Given the description of an element on the screen output the (x, y) to click on. 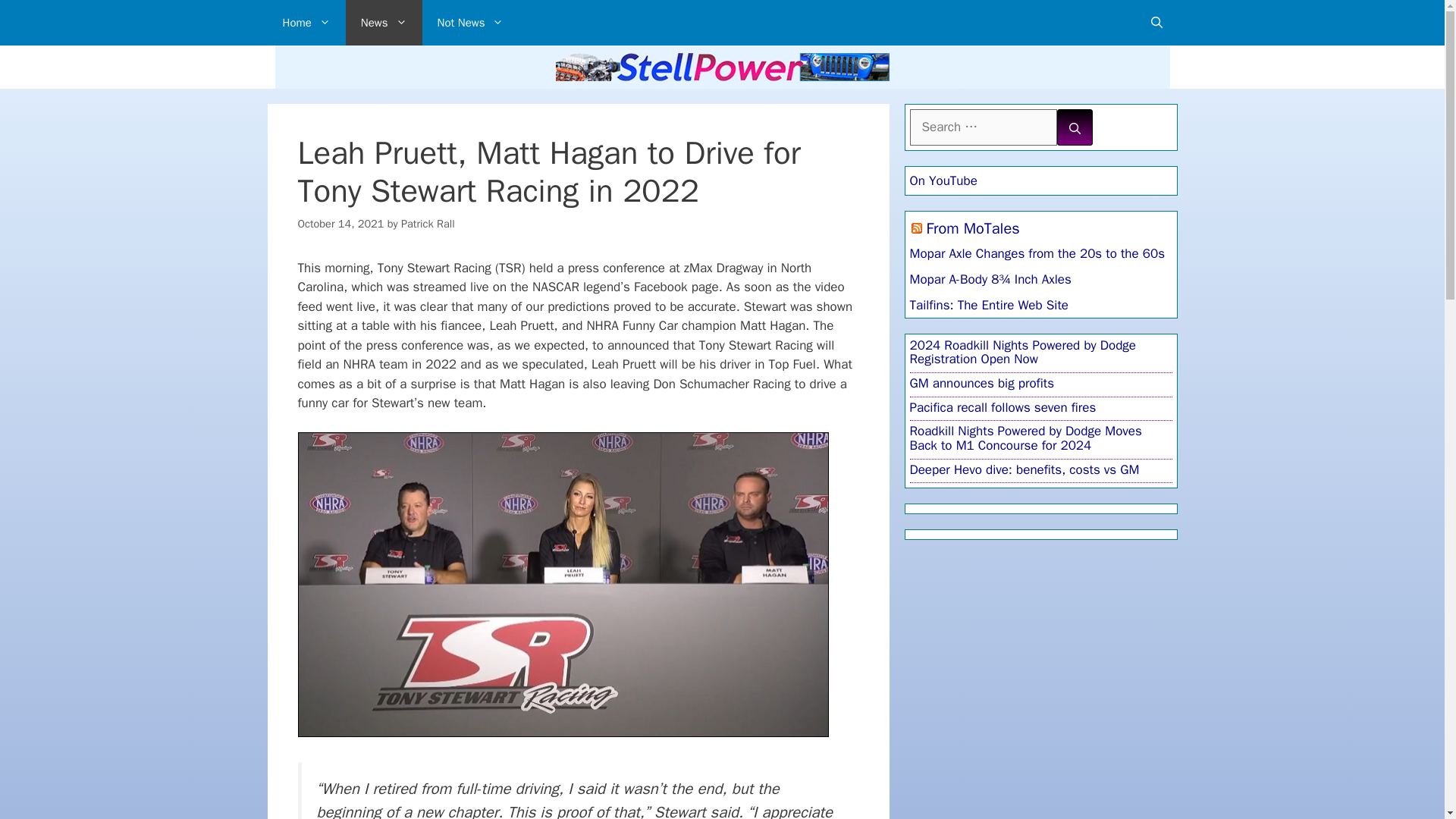
Not News (470, 22)
Search for: (983, 126)
Patrick Rall (427, 223)
News (384, 22)
Home (305, 22)
View all posts by Patrick Rall (427, 223)
